Given the description of an element on the screen output the (x, y) to click on. 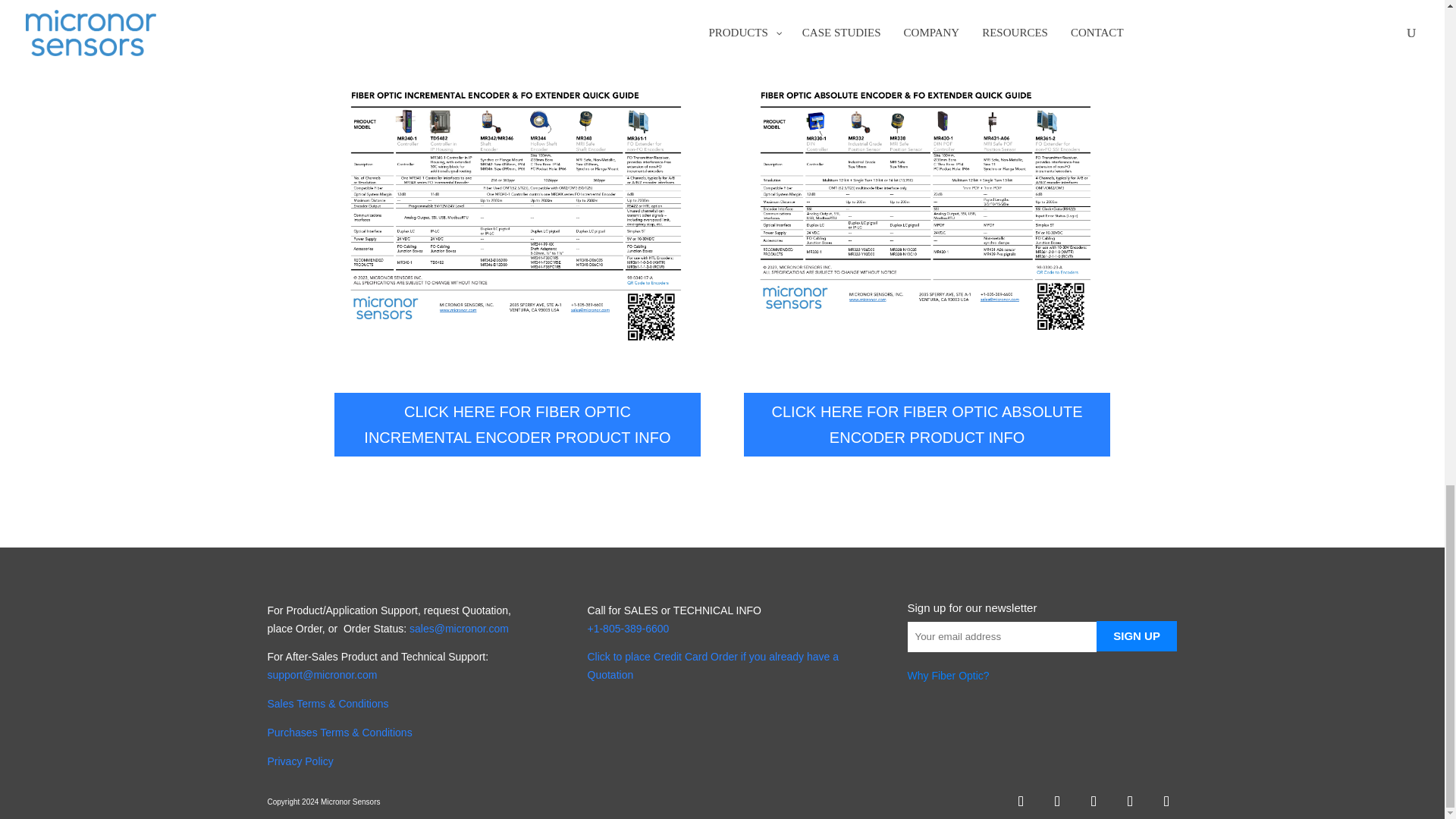
Sign up (1136, 635)
